Given the description of an element on the screen output the (x, y) to click on. 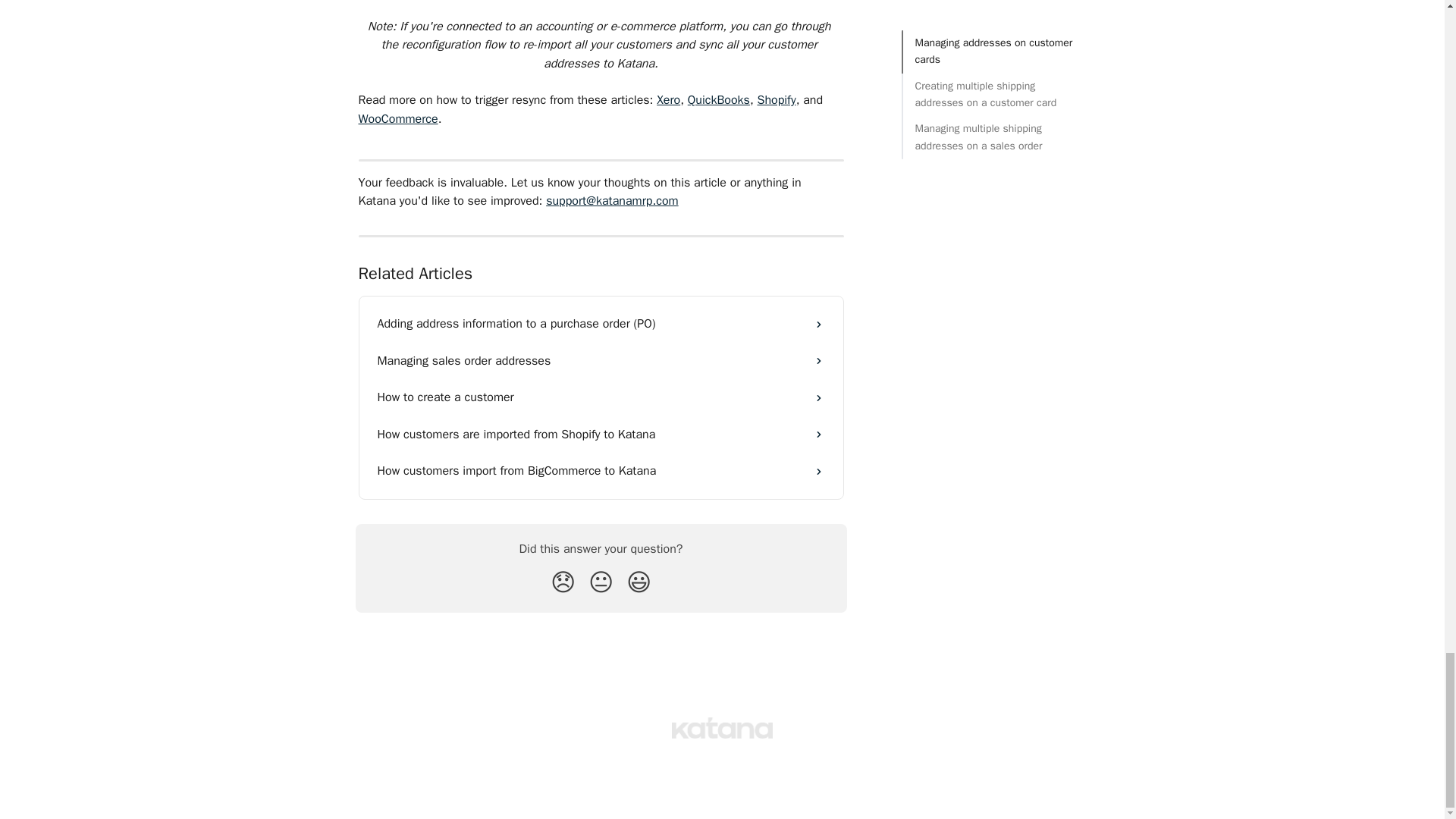
WooCommerce (398, 118)
Xero (667, 99)
How customers are imported from Shopify to Katana (601, 434)
Shopify (775, 99)
How to create a customer (601, 397)
QuickBooks (718, 99)
Managing sales order addresses (601, 361)
How customers import from BigCommerce to Katana (601, 470)
